Given the description of an element on the screen output the (x, y) to click on. 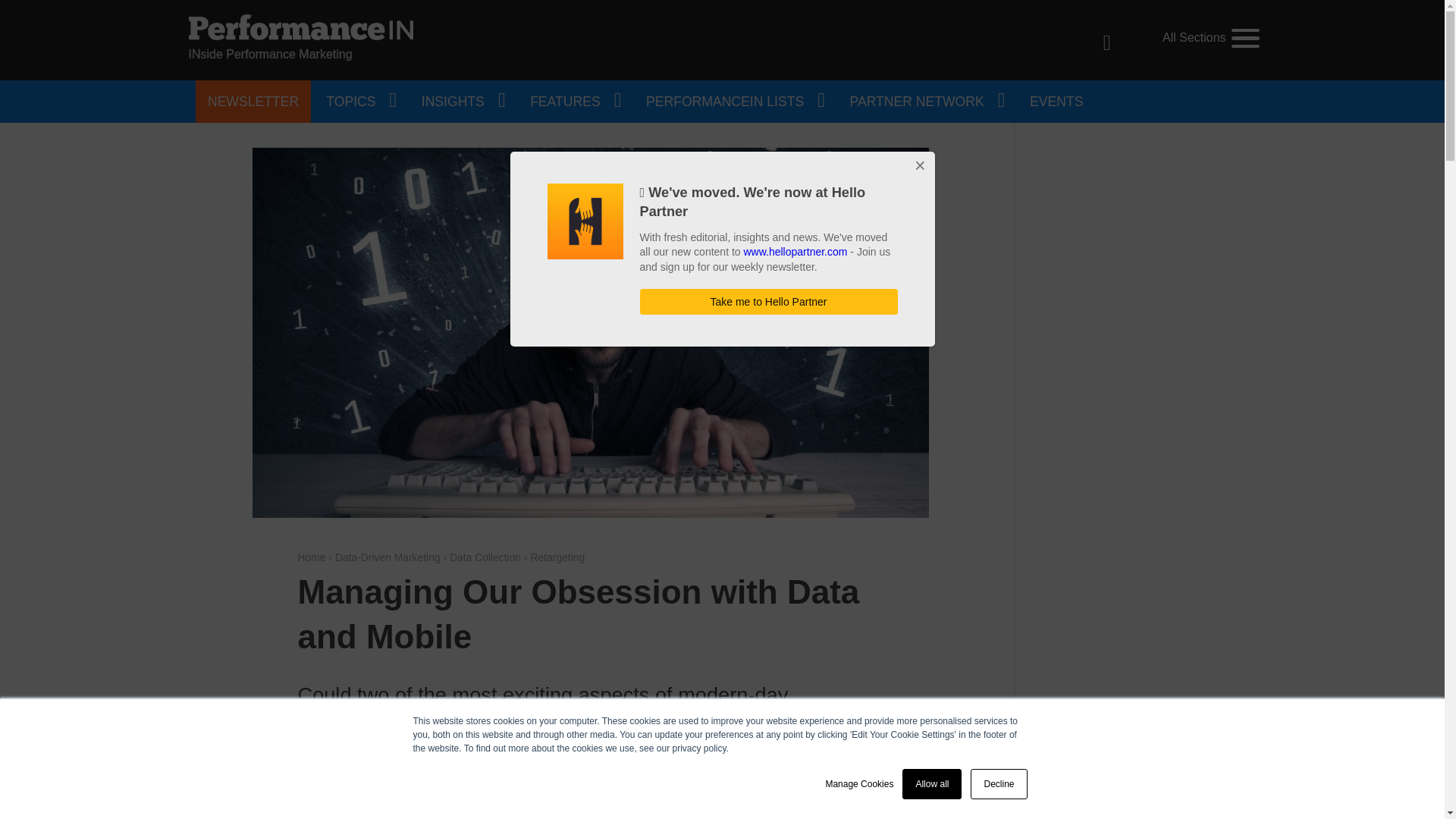
TOPICS (360, 101)
Allow all (931, 784)
Decline (998, 784)
PARTNER NETWORK (926, 101)
All Sections (1210, 38)
EVENTS (1055, 101)
NEWSLETTER (253, 101)
INside Performance Marketing (299, 38)
PERFORMANCEIN LISTS (733, 101)
Manage Cookies (859, 784)
INSIGHTS (462, 101)
FEATURES (574, 101)
